Given the description of an element on the screen output the (x, y) to click on. 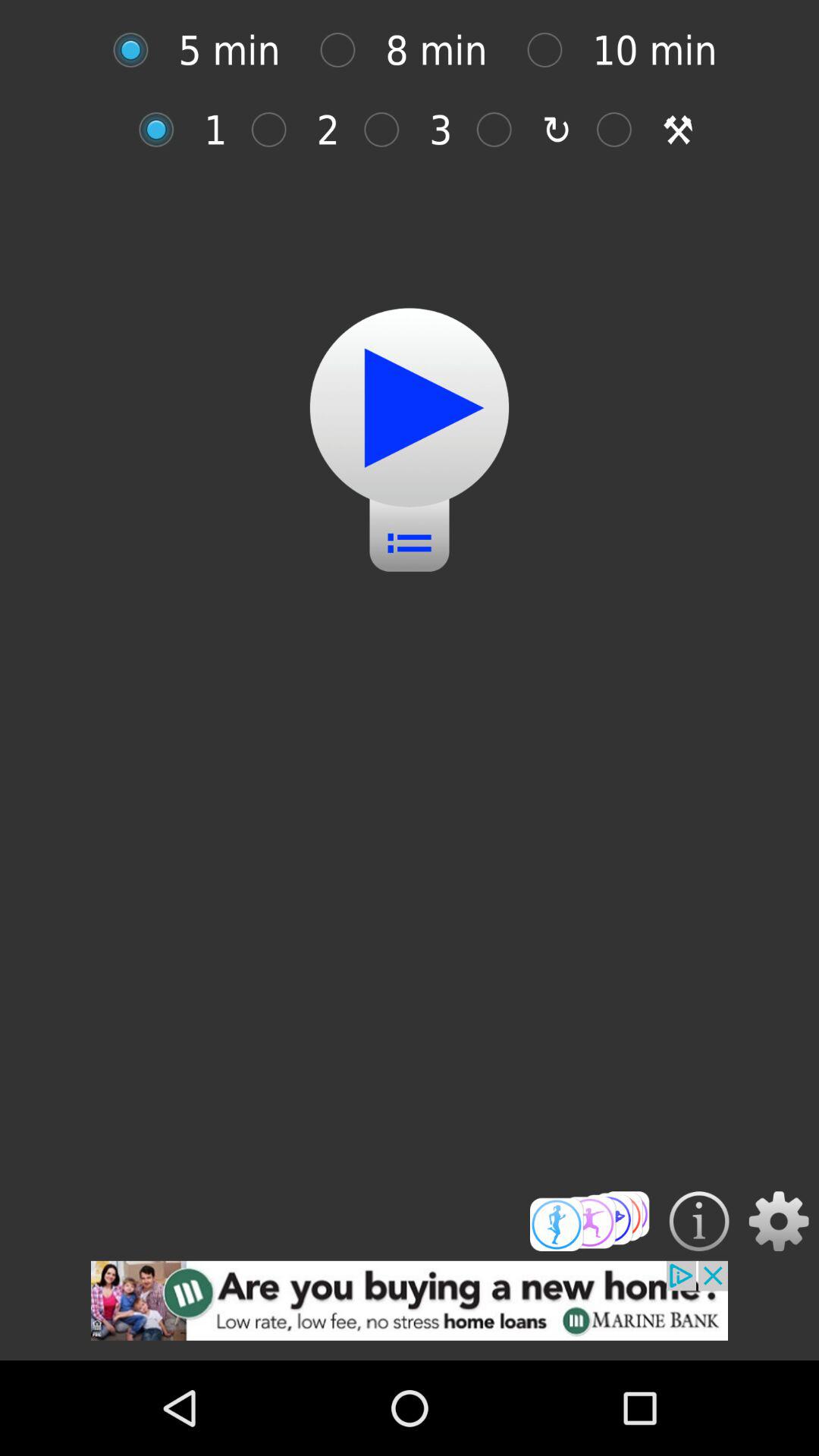
go to add (409, 1310)
